Given the description of an element on the screen output the (x, y) to click on. 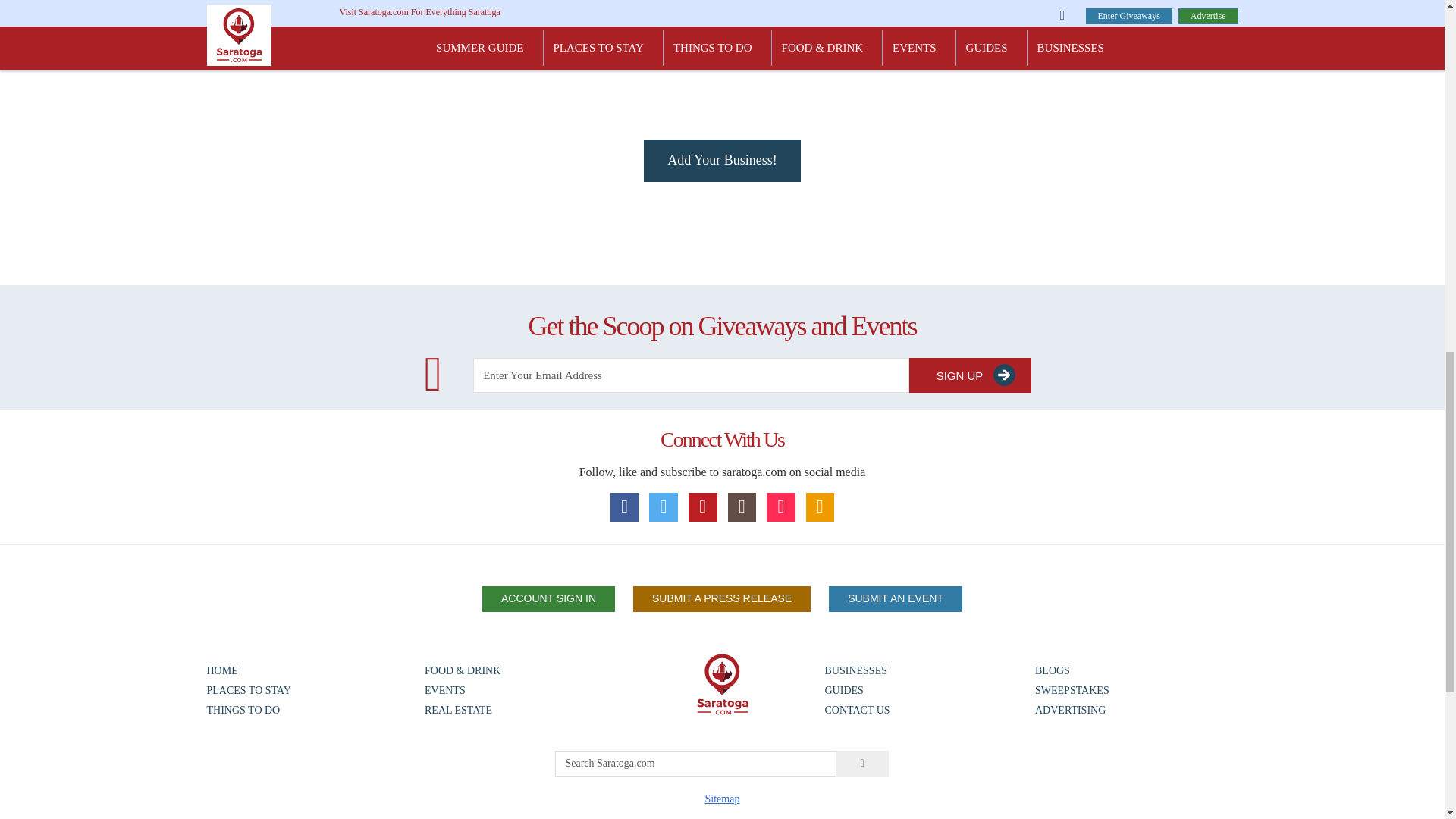
TikTok (780, 506)
Instagram (742, 506)
X (663, 506)
Facebook (624, 506)
My Planner (820, 506)
Pinterest (702, 506)
